Given the description of an element on the screen output the (x, y) to click on. 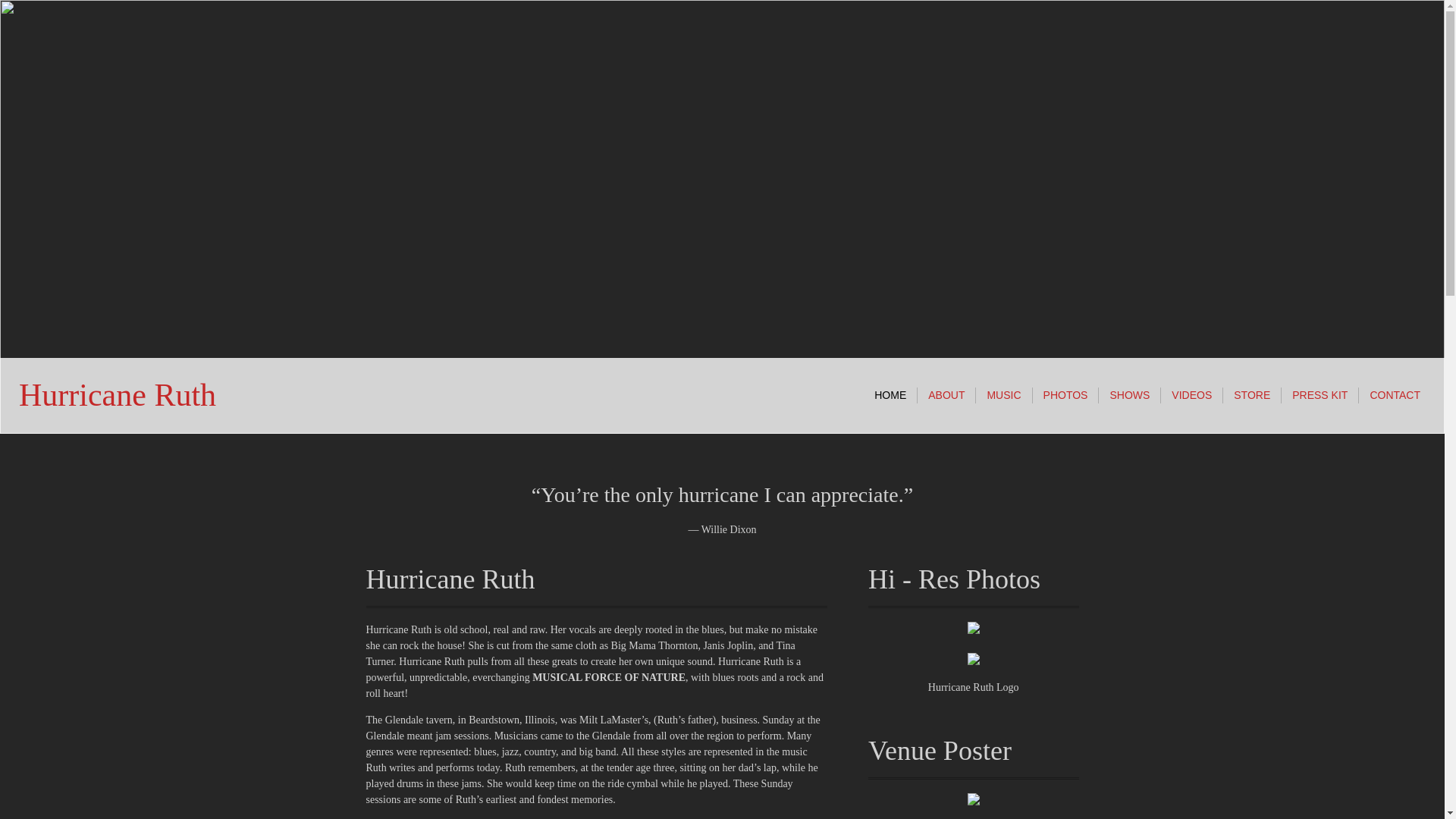
PRESS KIT (1320, 395)
MUSIC (1003, 395)
CONTACT (1395, 395)
HOME (890, 395)
SHOWS (1129, 395)
VIDEOS (1191, 395)
ABOUT (945, 395)
PHOTOS (1065, 395)
STORE (1251, 395)
Hurricane Ruth (116, 399)
